Given the description of an element on the screen output the (x, y) to click on. 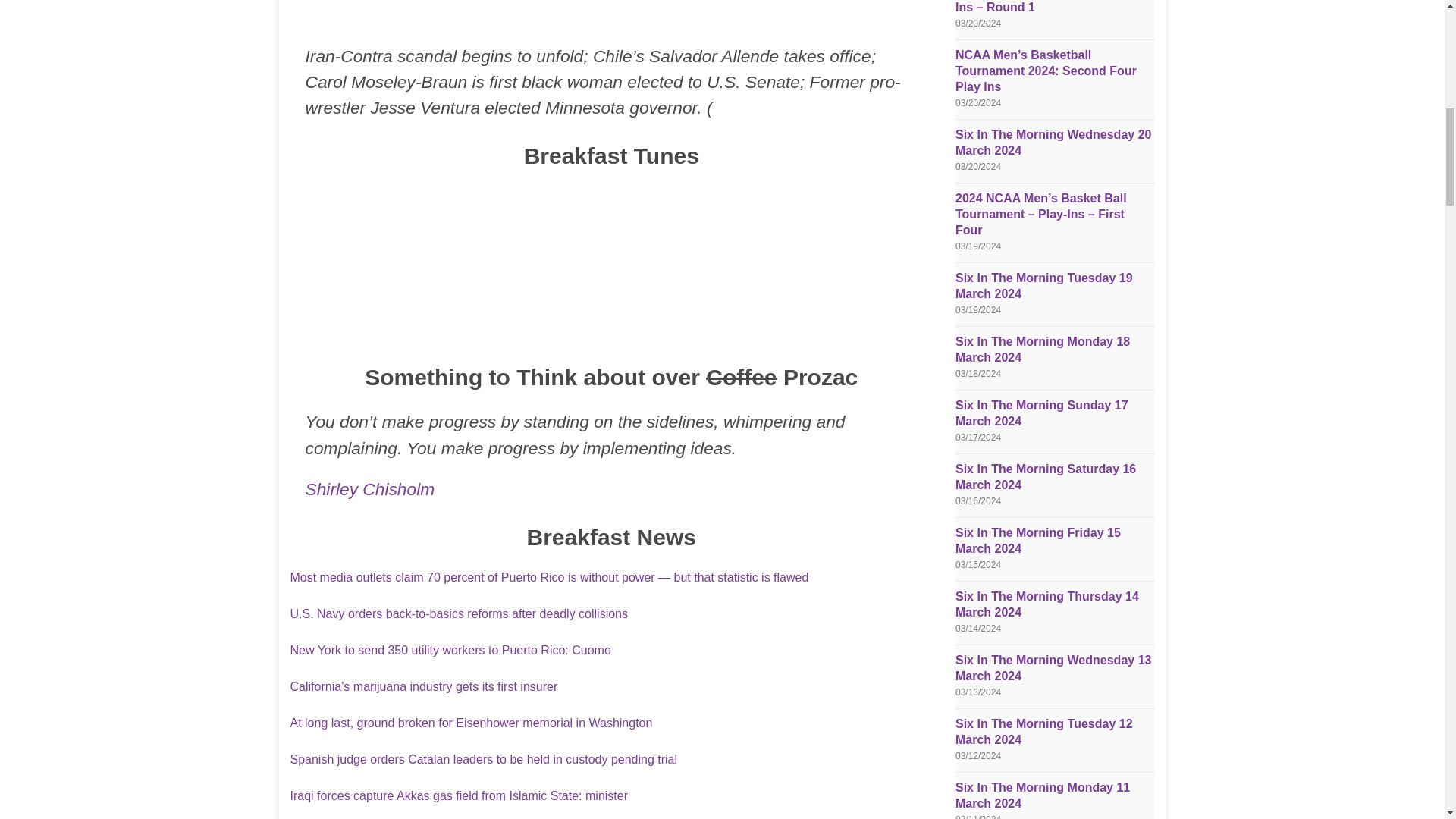
Shirley Chisholm (368, 488)
New York to send 350 utility workers to Puerto Rico: Cuomo (449, 649)
